Given the description of an element on the screen output the (x, y) to click on. 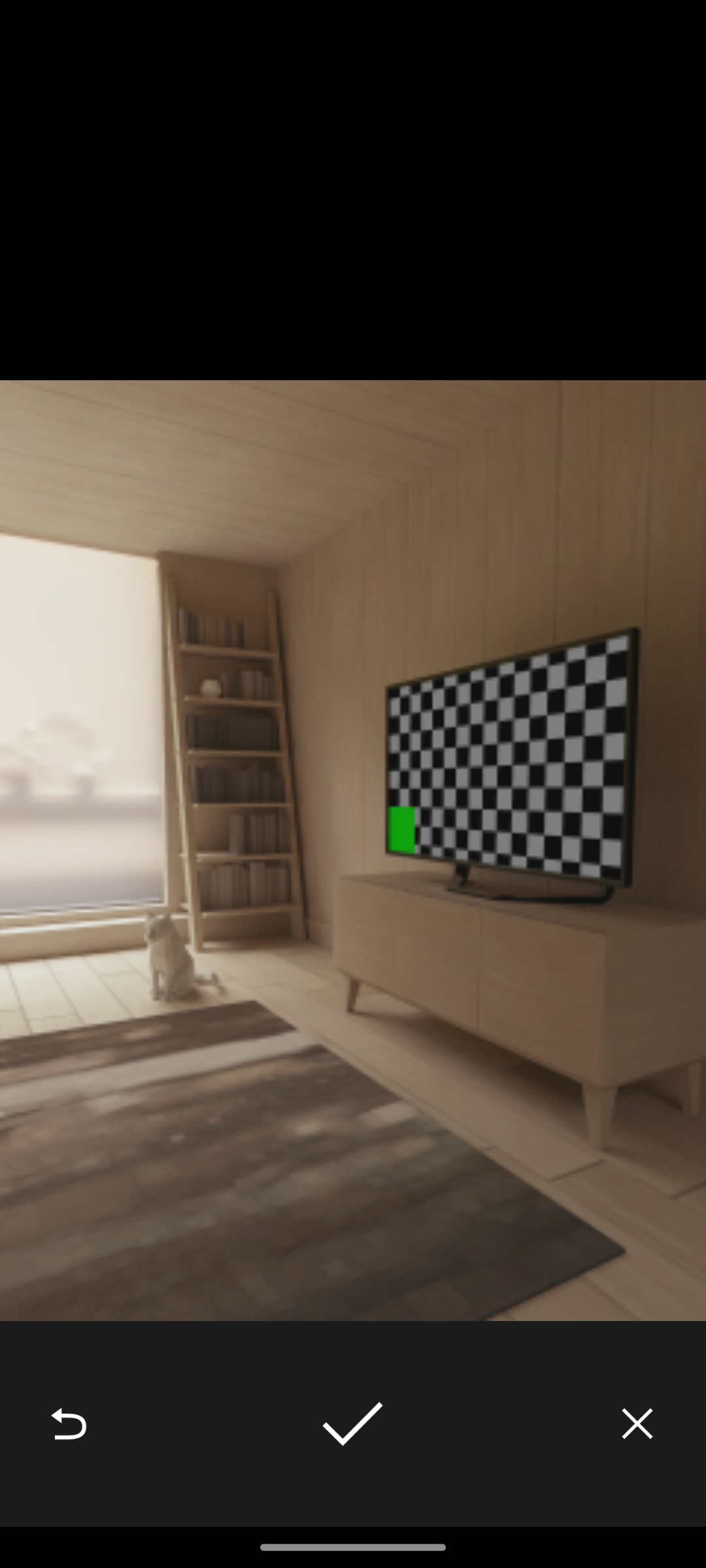
Done (352, 1423)
Retake (68, 1423)
Cancel (637, 1423)
